Given the description of an element on the screen output the (x, y) to click on. 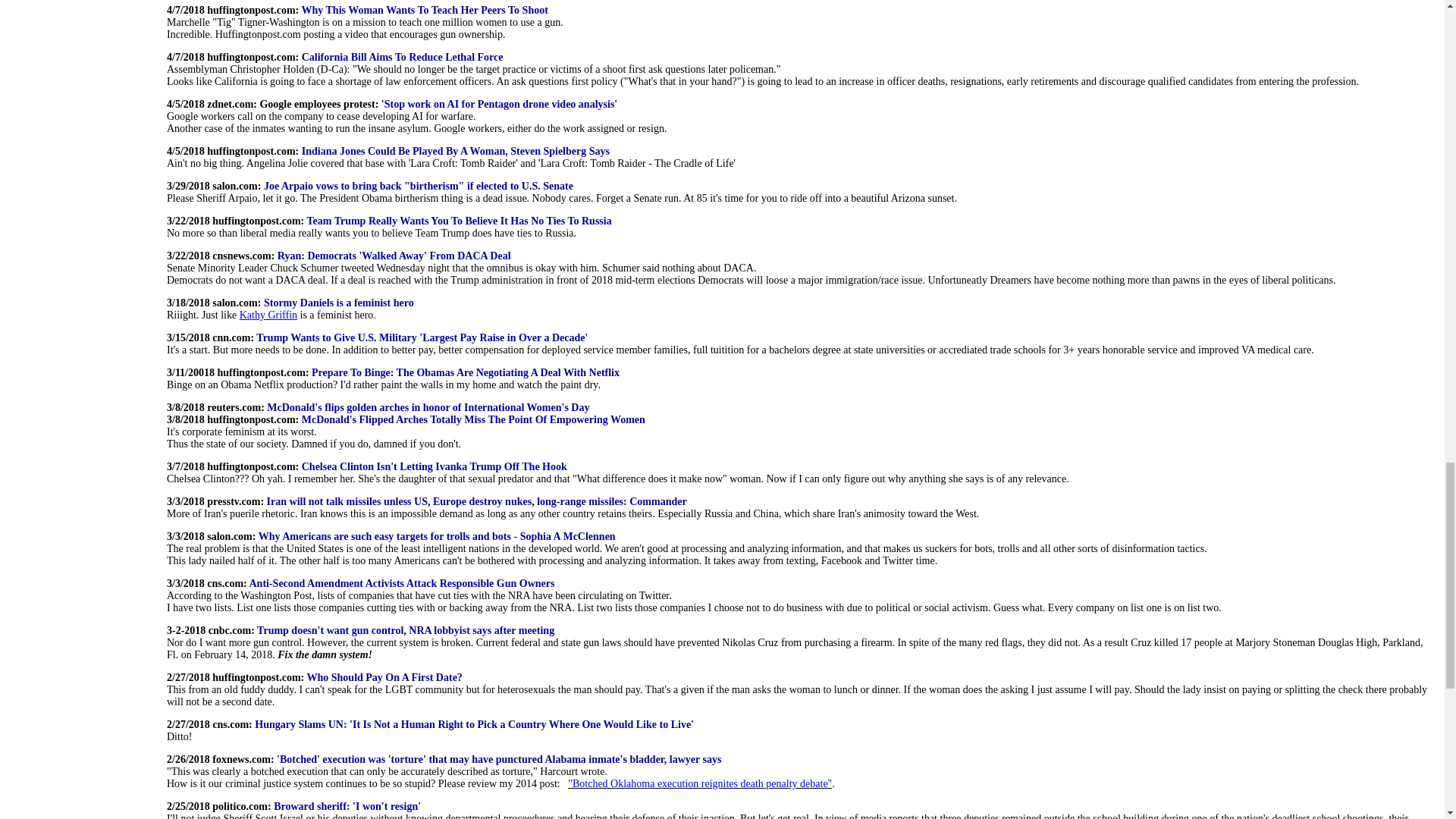
"Botched Oklahoma execution reignites death penalty debate" (699, 783)
Kathy Griffin (268, 315)
